Given the description of an element on the screen output the (x, y) to click on. 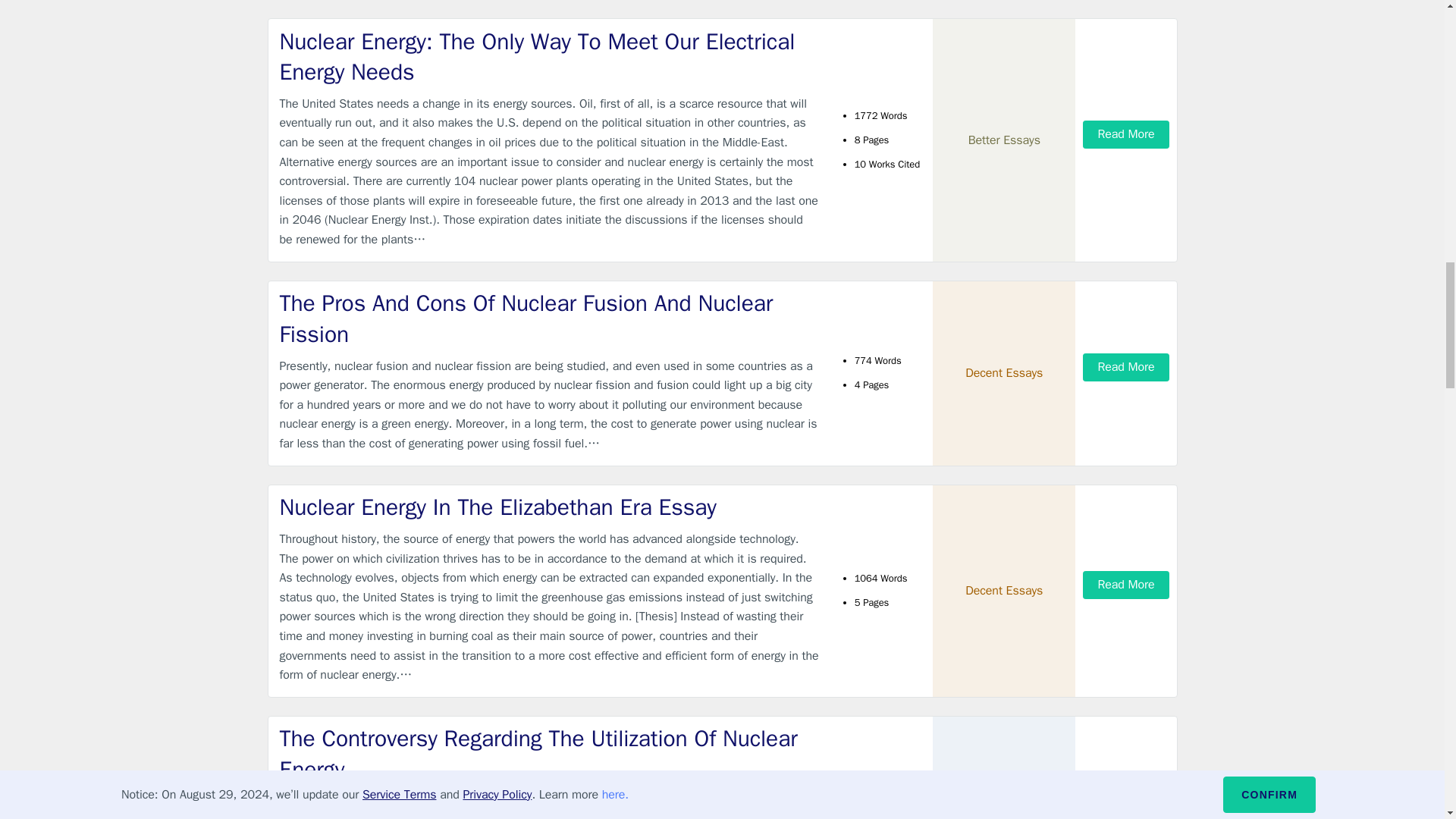
The Pros And Cons Of Nuclear Fusion And Nuclear Fission (548, 318)
Read More (1126, 584)
Read More (1126, 366)
The Controversy Regarding The Utilization Of Nuclear Energy (548, 753)
Nuclear Energy In The Elizabethan Era Essay (548, 507)
Read More (1126, 134)
